Given the description of an element on the screen output the (x, y) to click on. 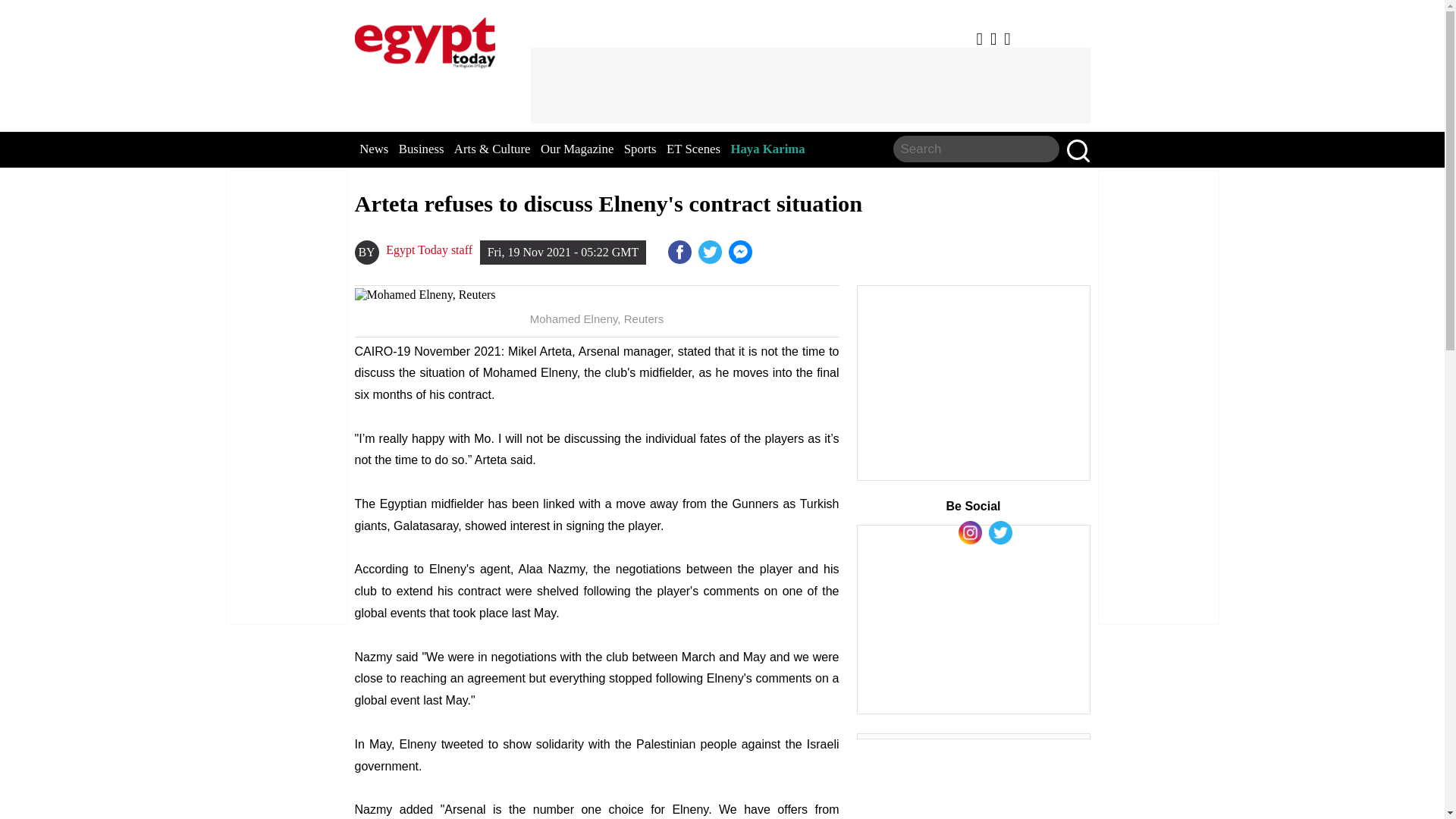
Our Magazine (576, 149)
EgyptToday (425, 39)
Sisi heads to Guinea first destination in overseas tour (742, 251)
Haya Karima (767, 149)
Mohamed Elneny, Reuters  (597, 295)
Business (421, 149)
ET Scenes (693, 149)
Sports (640, 149)
Egypt Today staff (428, 250)
